Given the description of an element on the screen output the (x, y) to click on. 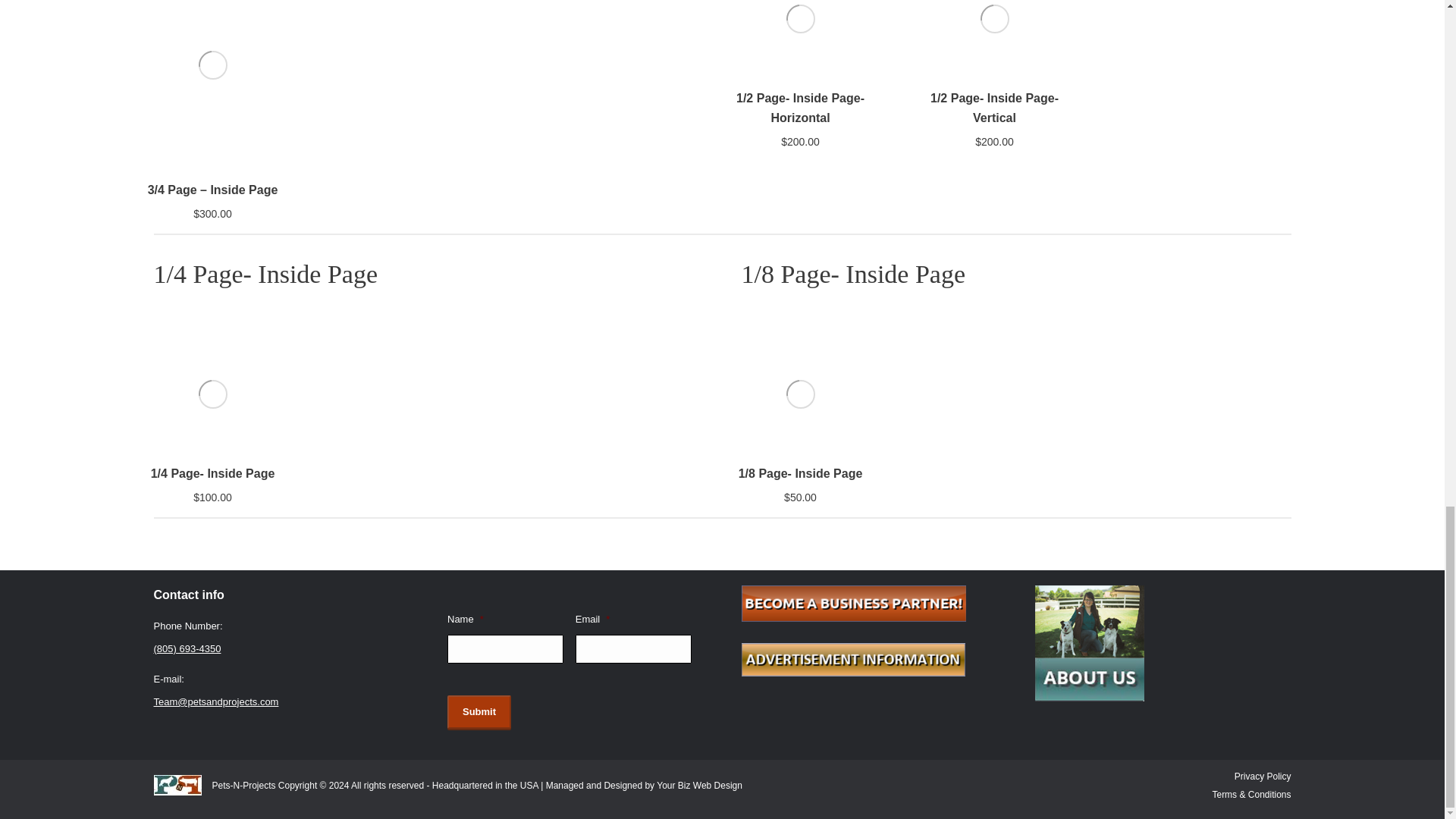
Submit (478, 711)
